Given the description of an element on the screen output the (x, y) to click on. 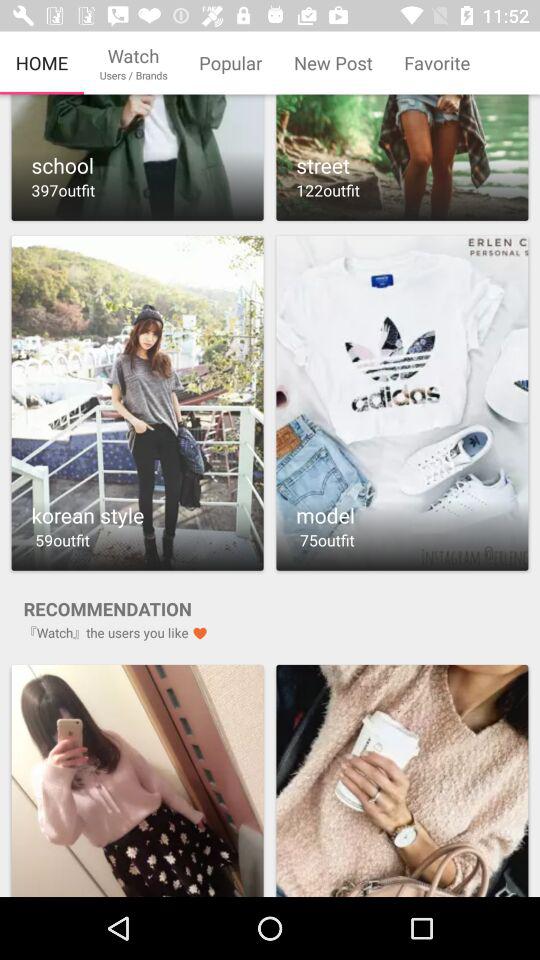
watch video select (402, 402)
